Given the description of an element on the screen output the (x, y) to click on. 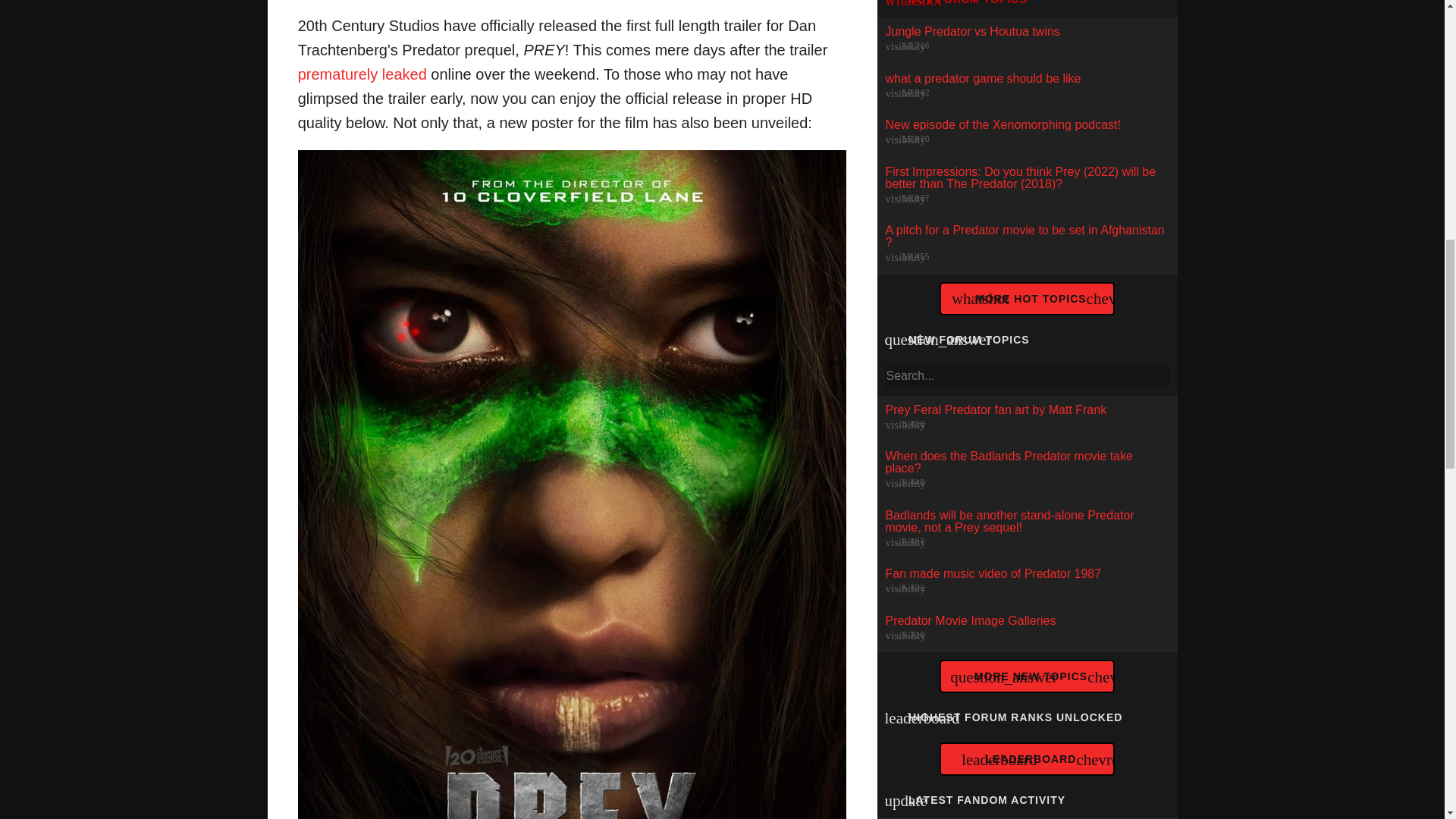
MORE HOT TOPICS (1030, 298)
prematurely leaked (1026, 418)
LEADERBOARD (1026, 629)
